Given the description of an element on the screen output the (x, y) to click on. 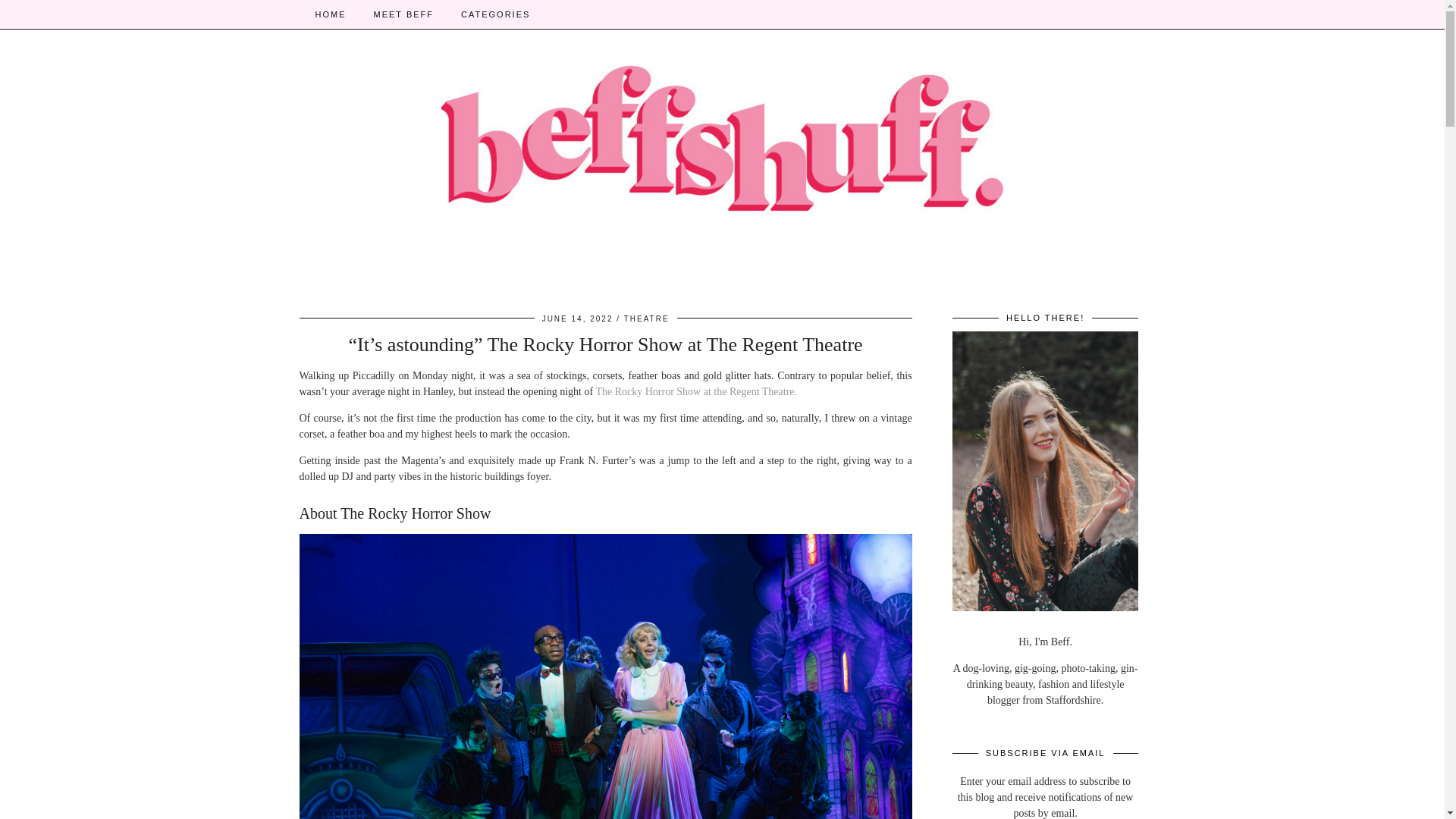
MEET BEFF (402, 14)
HOME (330, 14)
CATEGORIES (494, 14)
THEATRE (646, 318)
The Rocky Horror Show at the Regent Theatre. (695, 391)
